Given the description of an element on the screen output the (x, y) to click on. 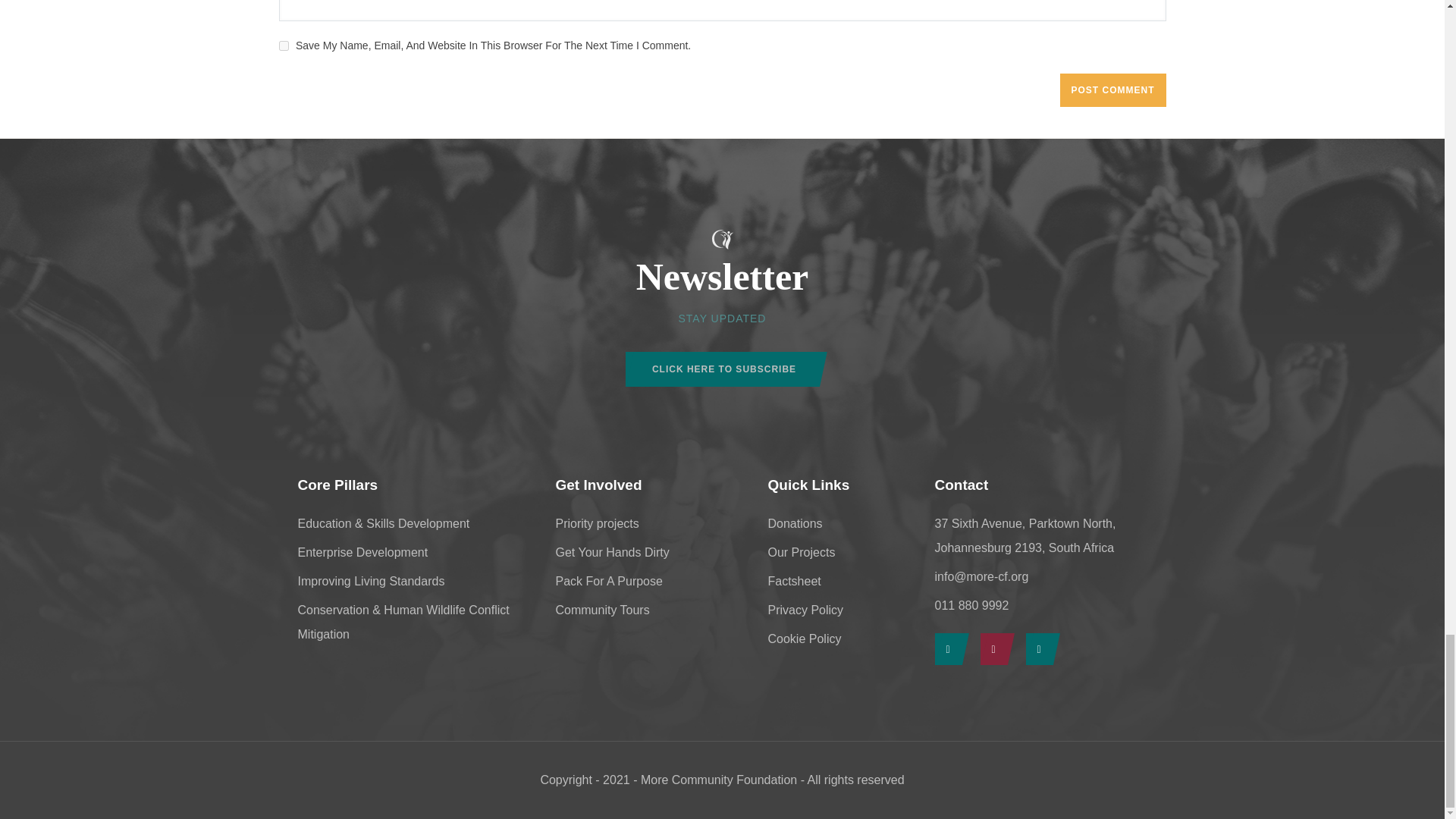
yes (283, 45)
Post Comment (1112, 90)
